Given the description of an element on the screen output the (x, y) to click on. 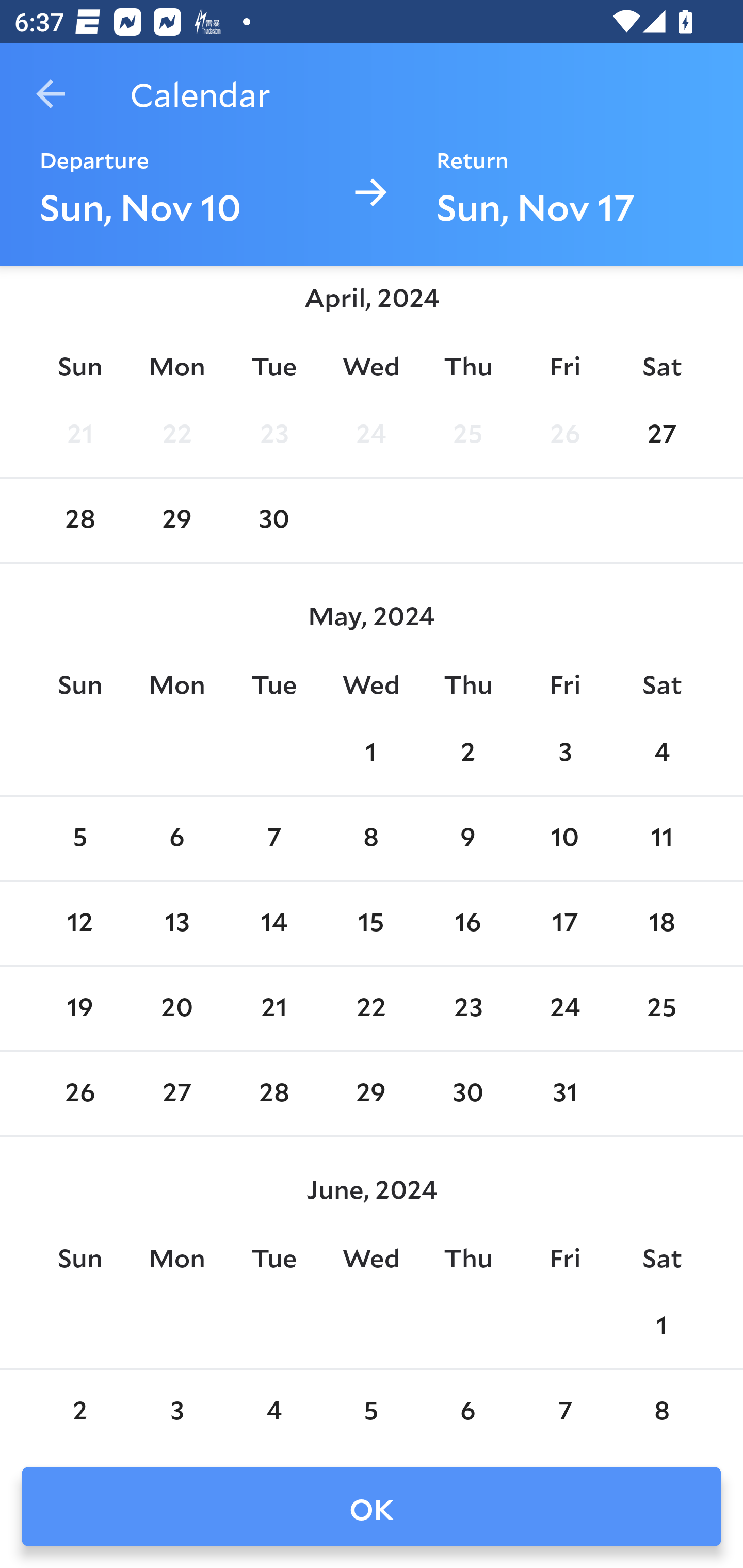
Navigate up (50, 93)
21 (79, 435)
22 (177, 435)
23 (273, 435)
24 (371, 435)
25 (467, 435)
26 (565, 435)
27 (661, 435)
28 (79, 520)
29 (177, 520)
30 (273, 520)
1 (371, 754)
2 (467, 754)
3 (565, 754)
4 (661, 754)
5 (79, 838)
6 (177, 838)
7 (273, 838)
8 (371, 838)
9 (467, 838)
10 (565, 838)
11 (661, 838)
12 (79, 923)
13 (177, 923)
14 (273, 923)
15 (371, 923)
16 (467, 923)
17 (565, 923)
18 (661, 923)
19 (79, 1008)
20 (177, 1008)
21 (273, 1008)
22 (371, 1008)
23 (467, 1008)
24 (565, 1008)
25 (661, 1008)
26 (79, 1094)
27 (177, 1094)
28 (273, 1094)
29 (371, 1094)
30 (467, 1094)
31 (565, 1094)
1 (661, 1326)
2 (79, 1410)
3 (177, 1410)
4 (273, 1410)
5 (371, 1410)
6 (467, 1410)
7 (565, 1410)
8 (661, 1410)
